Given the description of an element on the screen output the (x, y) to click on. 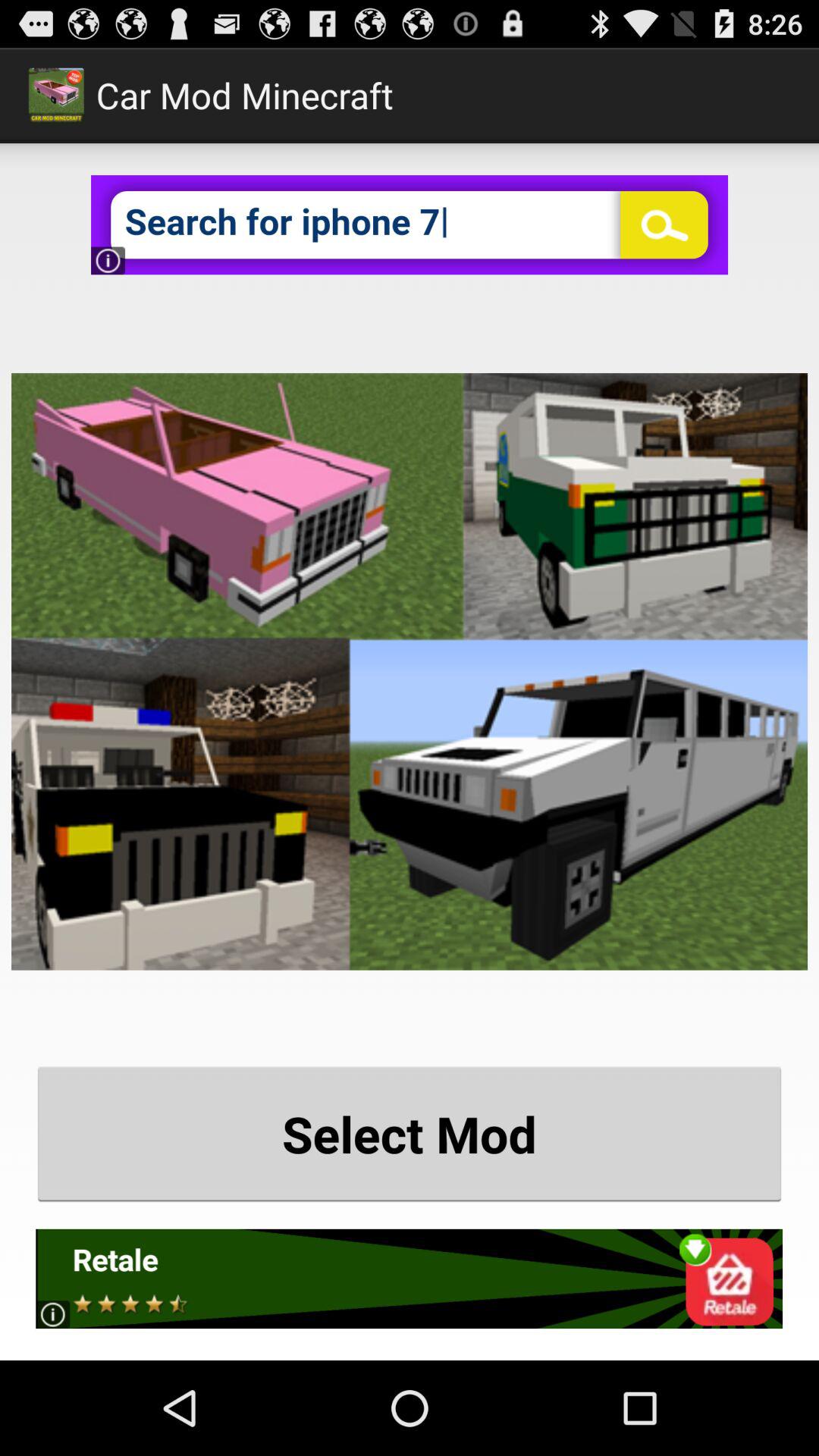
enter search text (409, 224)
